Given the description of an element on the screen output the (x, y) to click on. 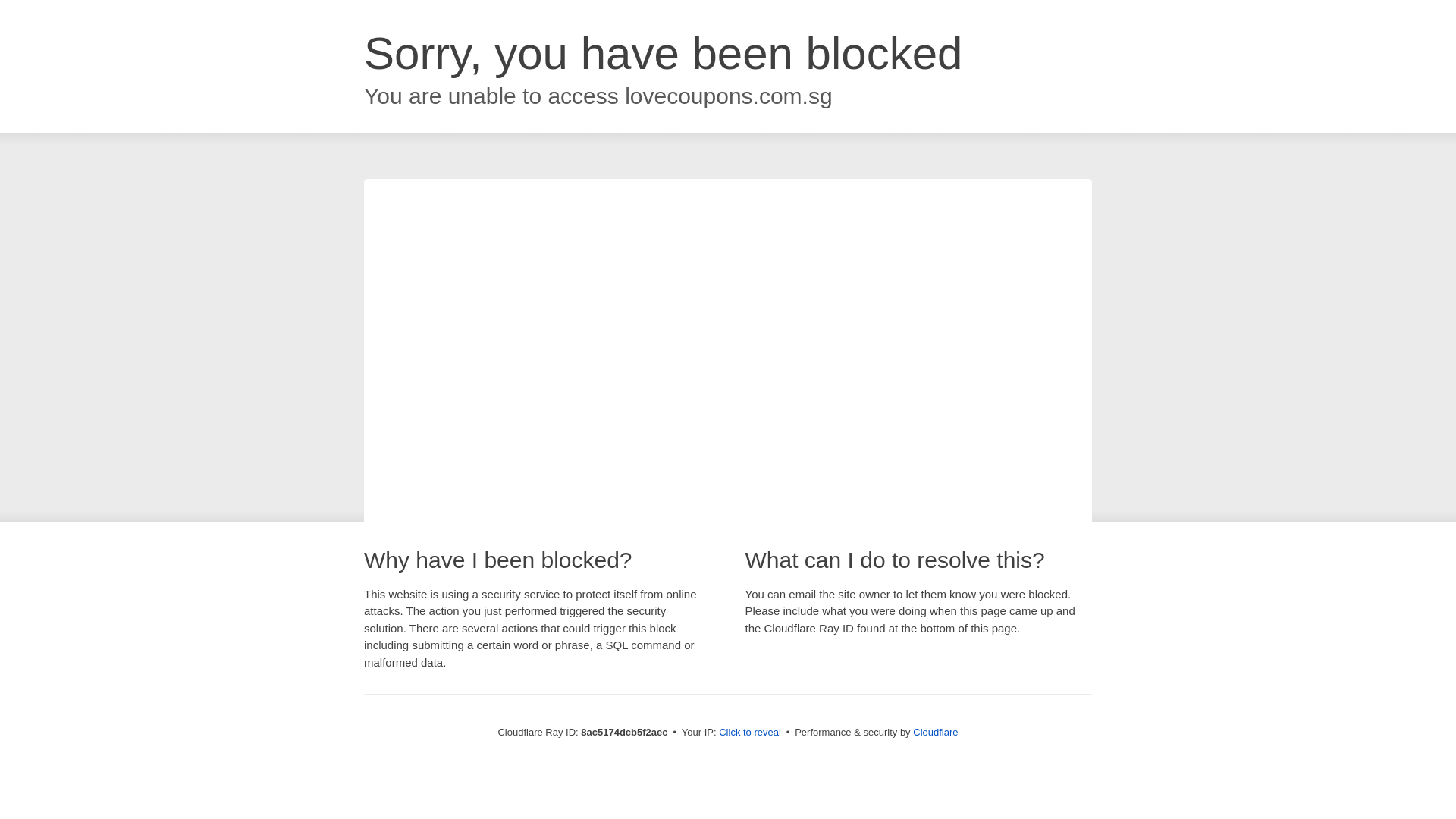
Cloudflare (935, 731)
Click to reveal (749, 732)
